Given the description of an element on the screen output the (x, y) to click on. 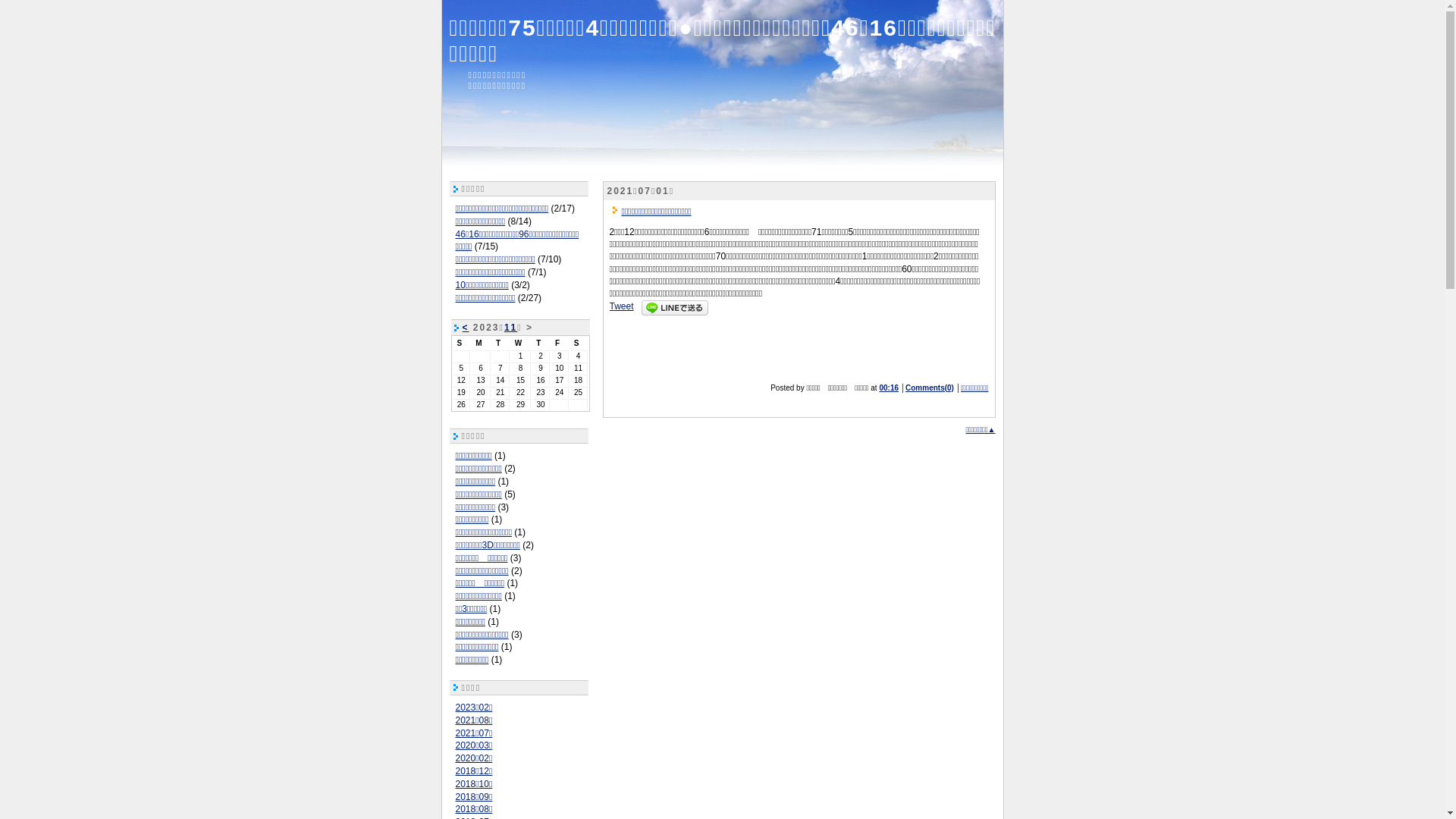
Comments(0) Element type: text (929, 387)
Tweet Element type: text (621, 306)
00:16 Element type: text (888, 387)
< Element type: text (465, 327)
11 Element type: text (510, 327)
